Given the description of an element on the screen output the (x, y) to click on. 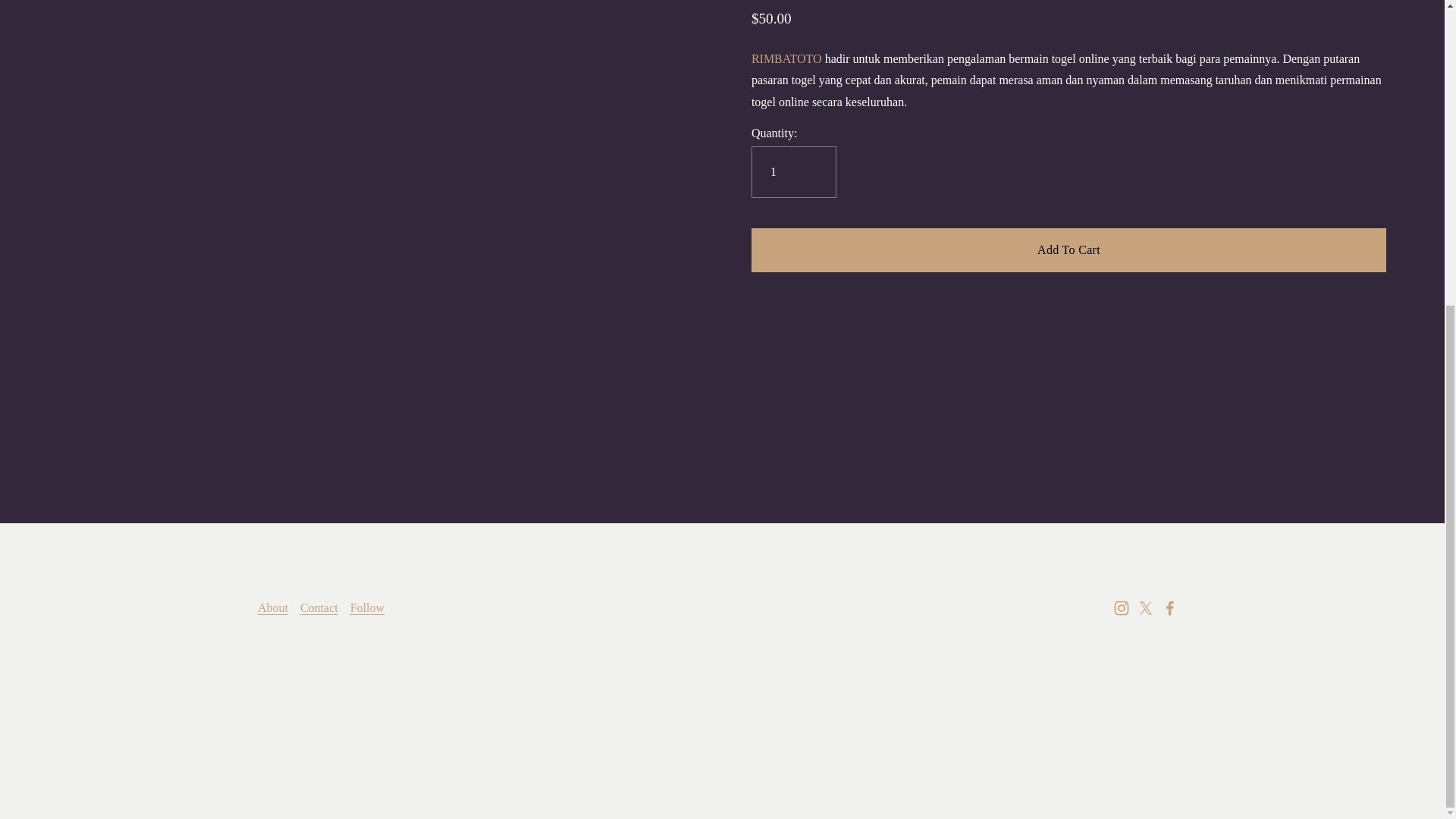
1 (793, 172)
RIMBATOTO (786, 58)
Follow (367, 608)
About (272, 608)
Contact (318, 608)
